Given the description of an element on the screen output the (x, y) to click on. 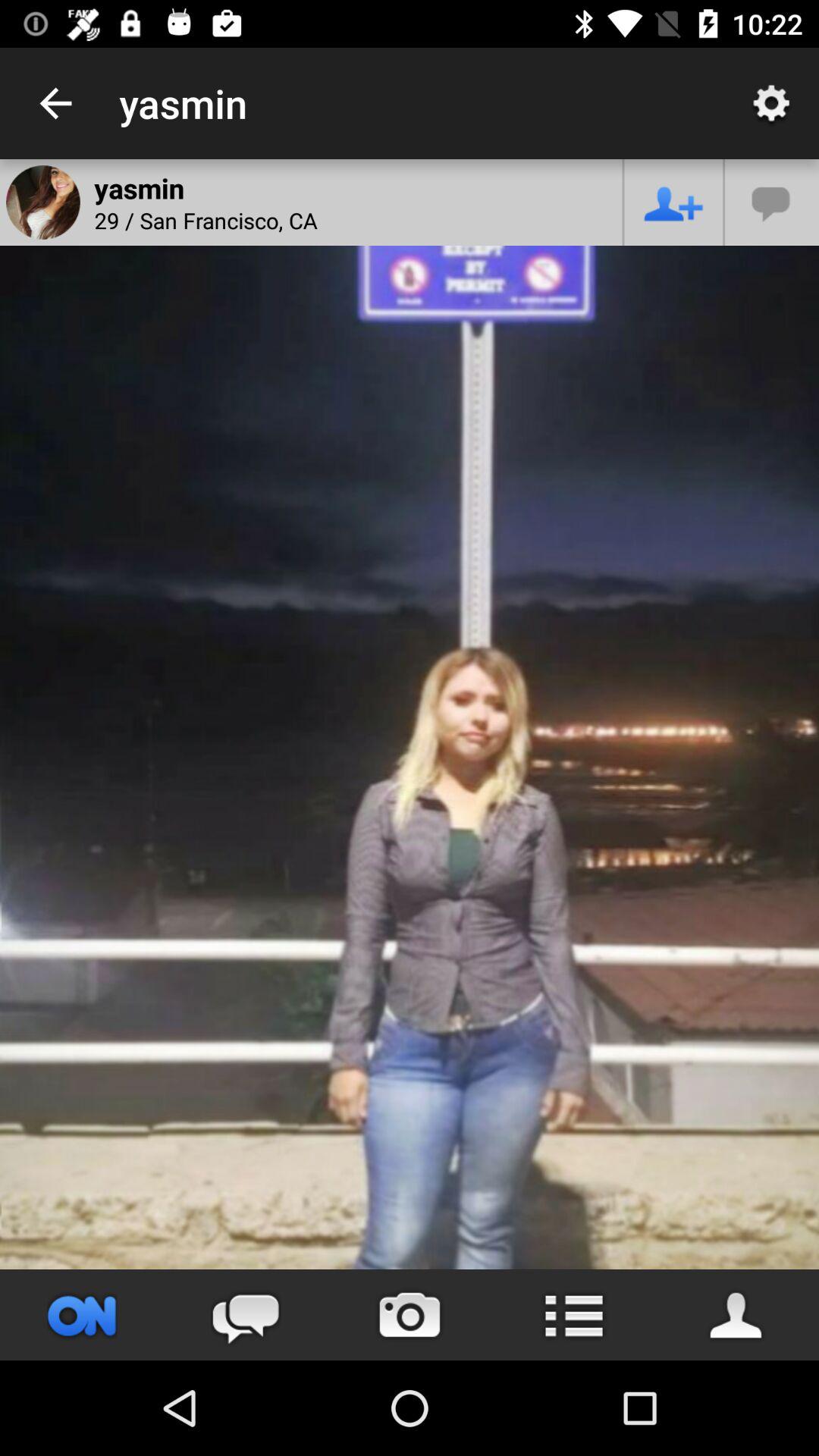
open profile (737, 1315)
